Given the description of an element on the screen output the (x, y) to click on. 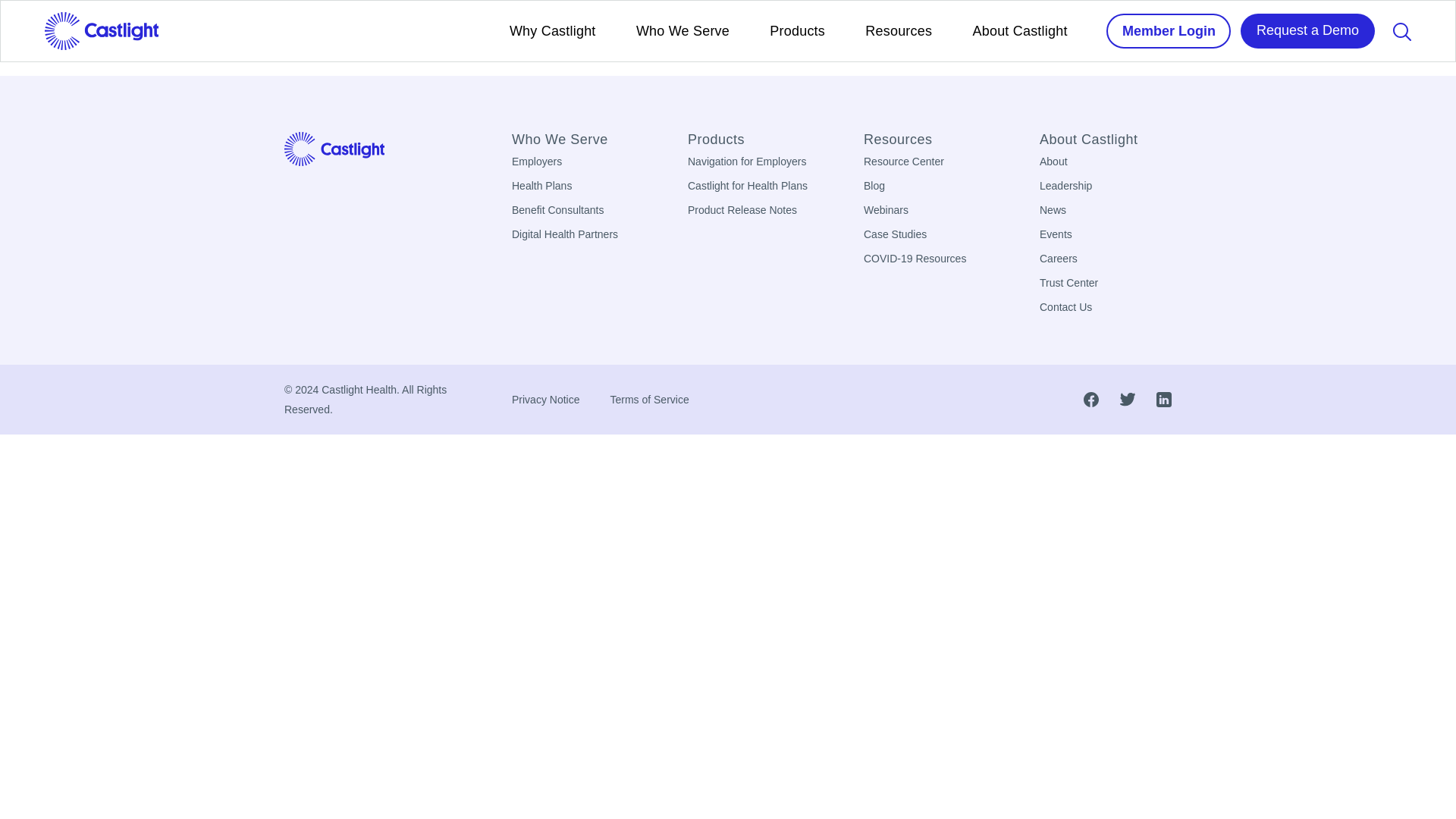
Member Login (1168, 30)
Benefit Consultants (558, 209)
Employers (537, 161)
blue-border-button (1168, 30)
About Castlight (1019, 30)
Resources (898, 30)
Products (753, 139)
Request a Demo (1307, 30)
Navigation for Employers (746, 161)
Why Castlight (552, 30)
Castlight Health - Health Navigation Platform (333, 147)
Castlight Health - Health Navigation Platform (101, 30)
Who We Serve (682, 30)
Product Release Notes (741, 209)
Digital Health Partners (564, 234)
